Given the description of an element on the screen output the (x, y) to click on. 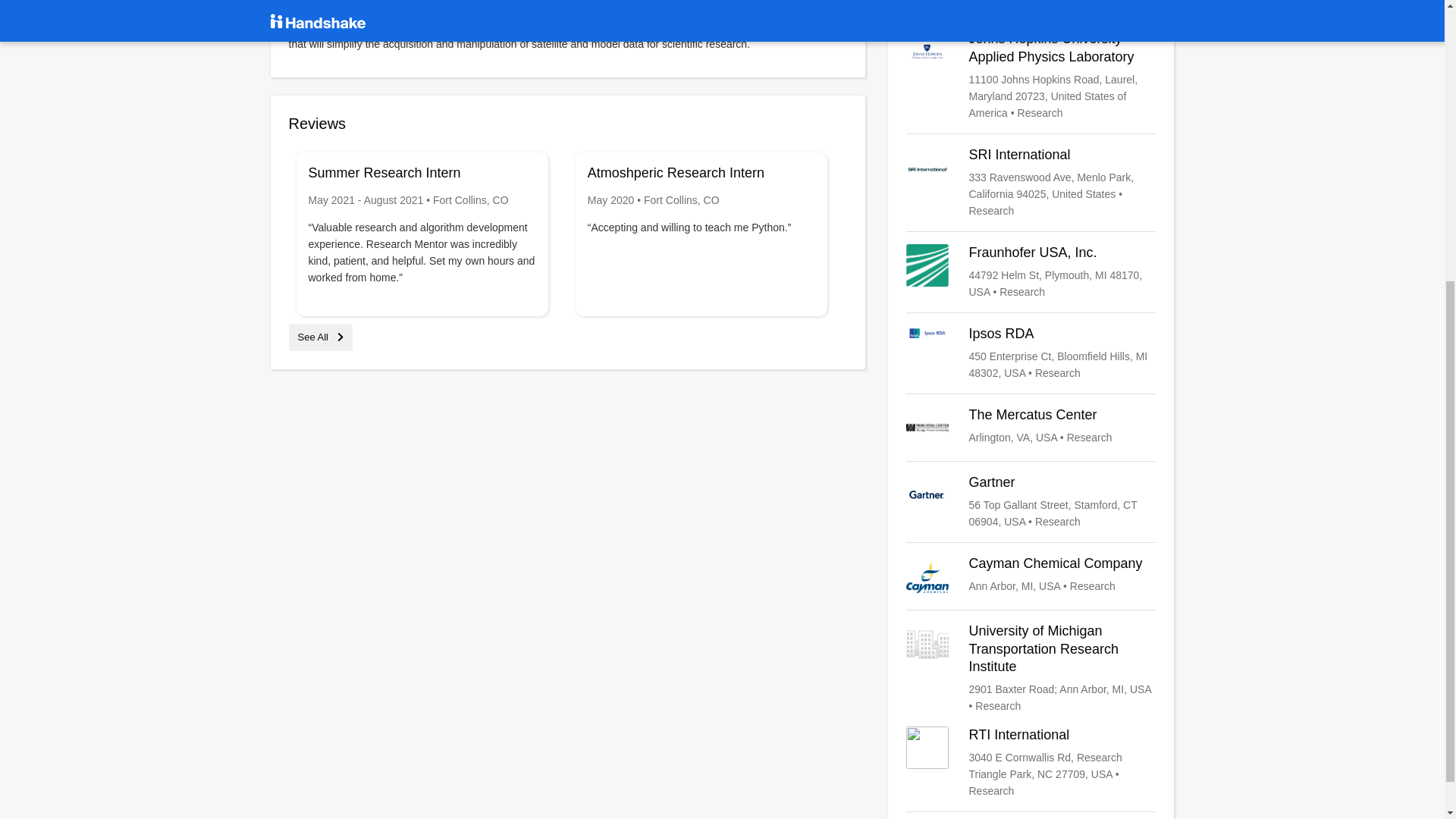
Ipsos RDA (1030, 353)
See All (320, 337)
Georgia Tech Research Institute (1030, 2)
The Mercatus Center (1030, 427)
Fraunhofer USA, Inc. (1030, 272)
Gartner (1030, 501)
SRI International (1030, 182)
Cayman Chemical Company (1030, 576)
Johns Hopkins University Applied Physics Laboratory (1030, 75)
RTI International (1030, 762)
